Given the description of an element on the screen output the (x, y) to click on. 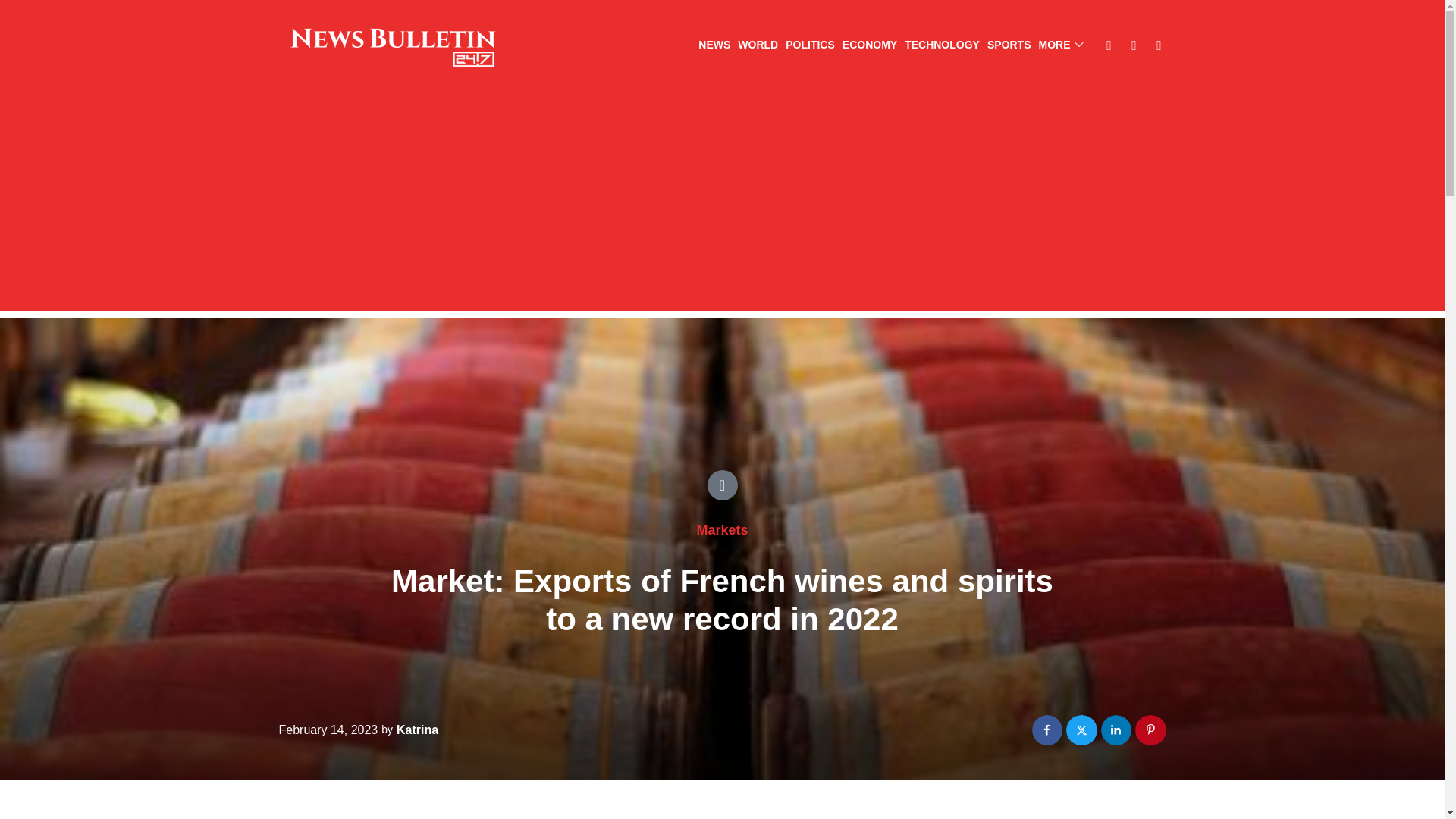
ECONOMY (869, 45)
TECHNOLOGY (941, 45)
MORE (1061, 45)
Markets (721, 529)
SPORTS (1008, 45)
NEWS (714, 45)
WORLD (757, 45)
POLITICS (810, 45)
